Given the description of an element on the screen output the (x, y) to click on. 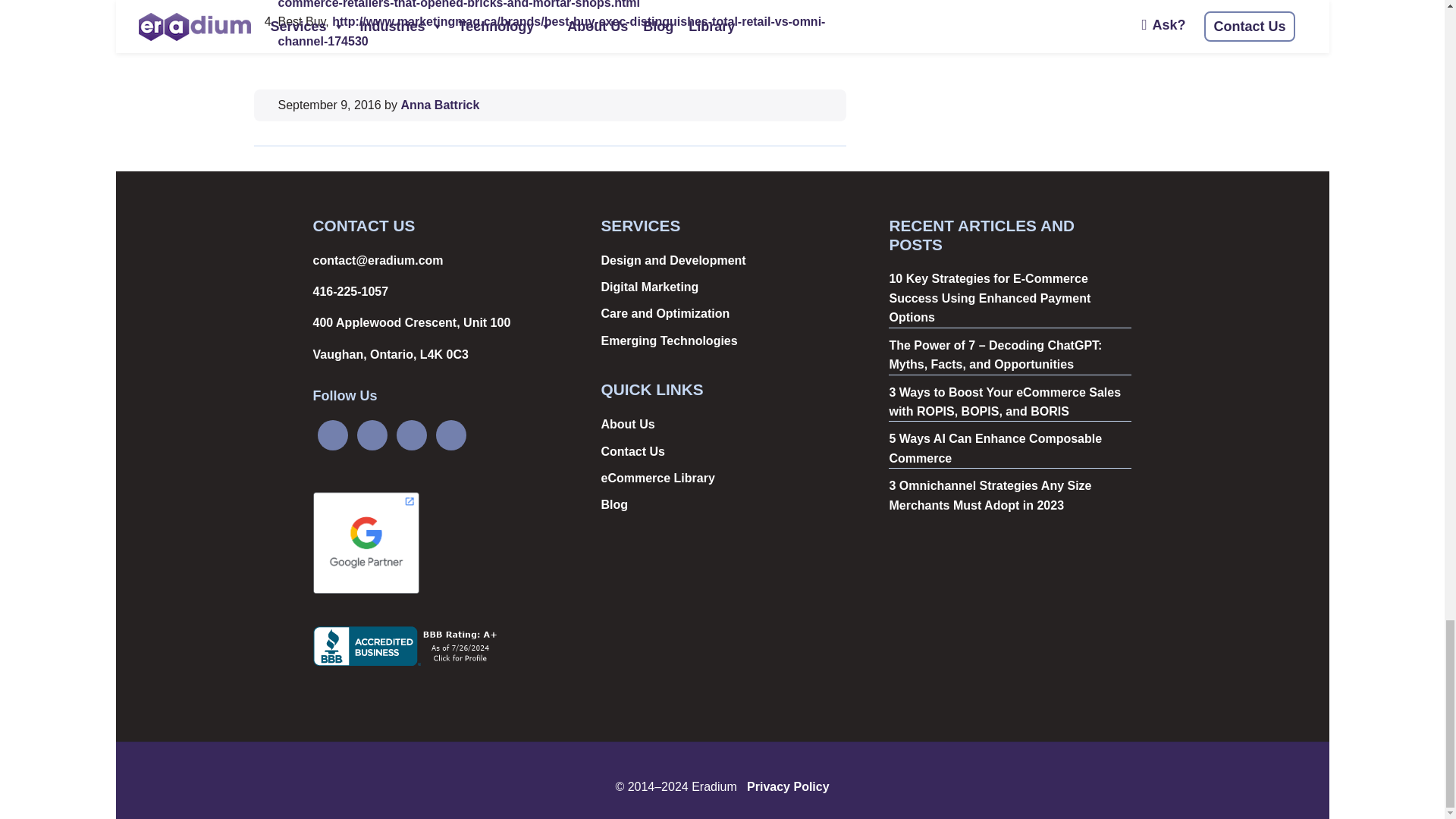
About Us (626, 423)
